Given the description of an element on the screen output the (x, y) to click on. 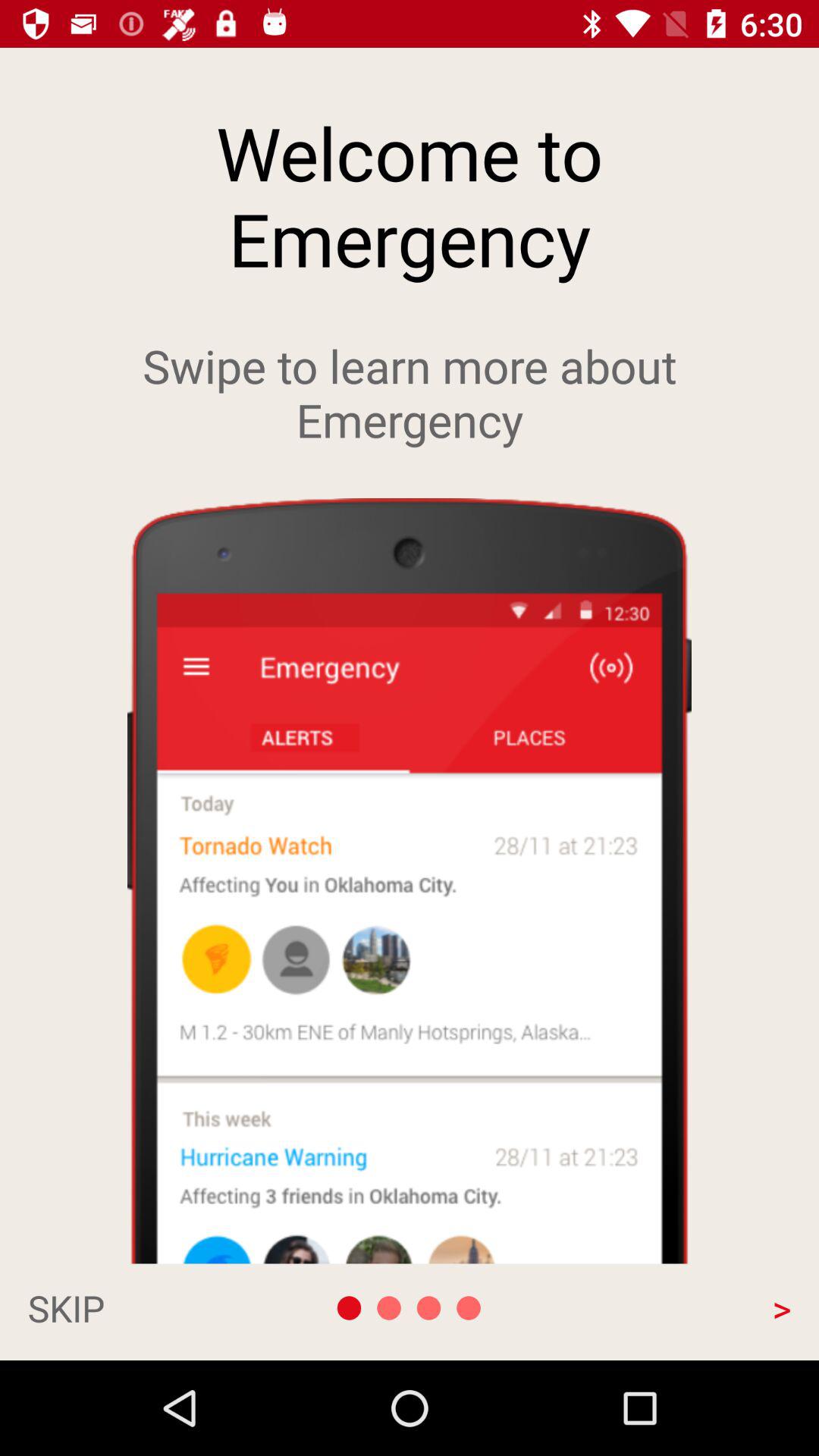
press the app at the bottom right corner (677, 1307)
